Given the description of an element on the screen output the (x, y) to click on. 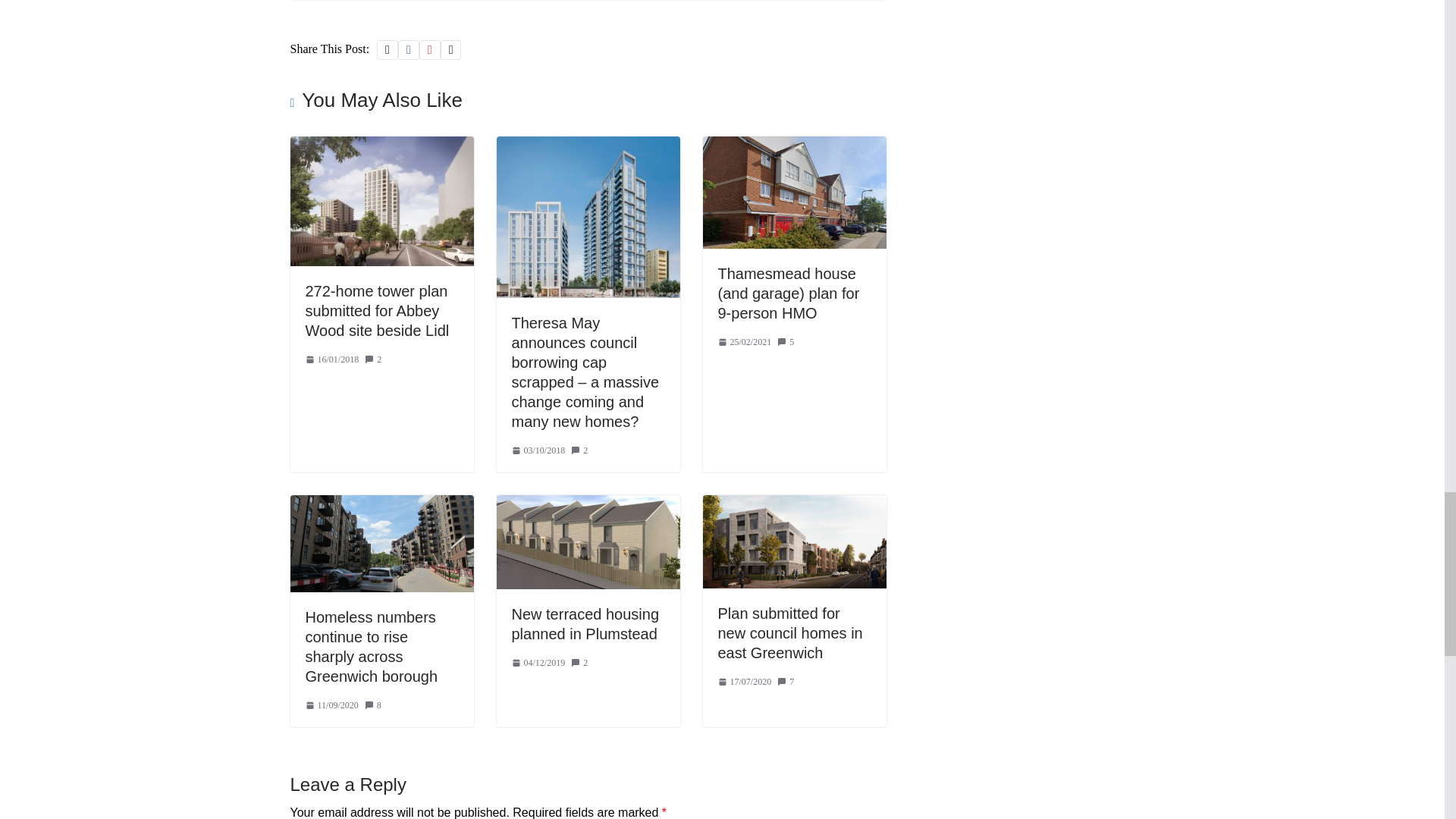
12:44 (537, 450)
16:39 (331, 359)
